Given the description of an element on the screen output the (x, y) to click on. 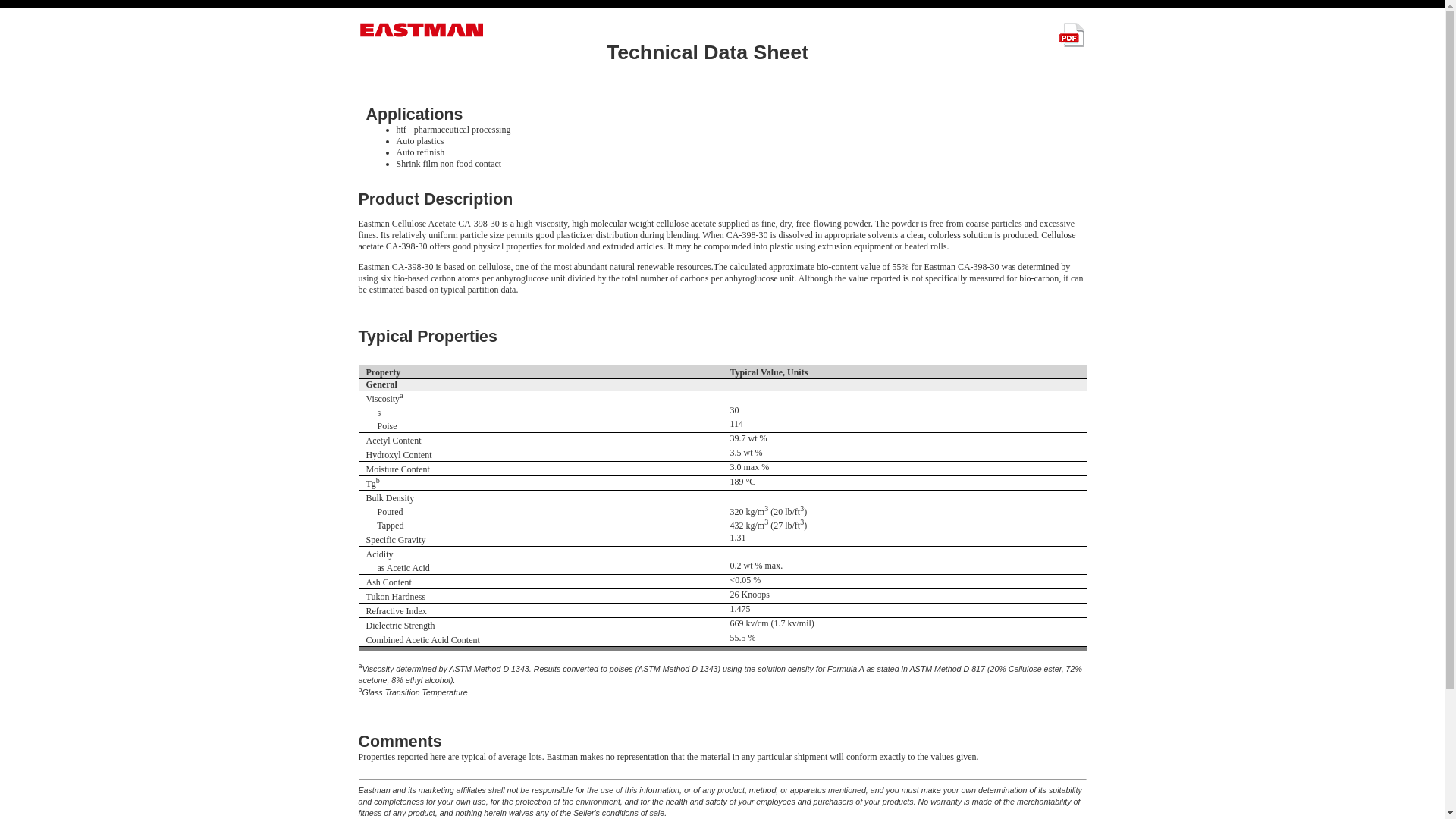
Click for PDF (1070, 34)
